Given the description of an element on the screen output the (x, y) to click on. 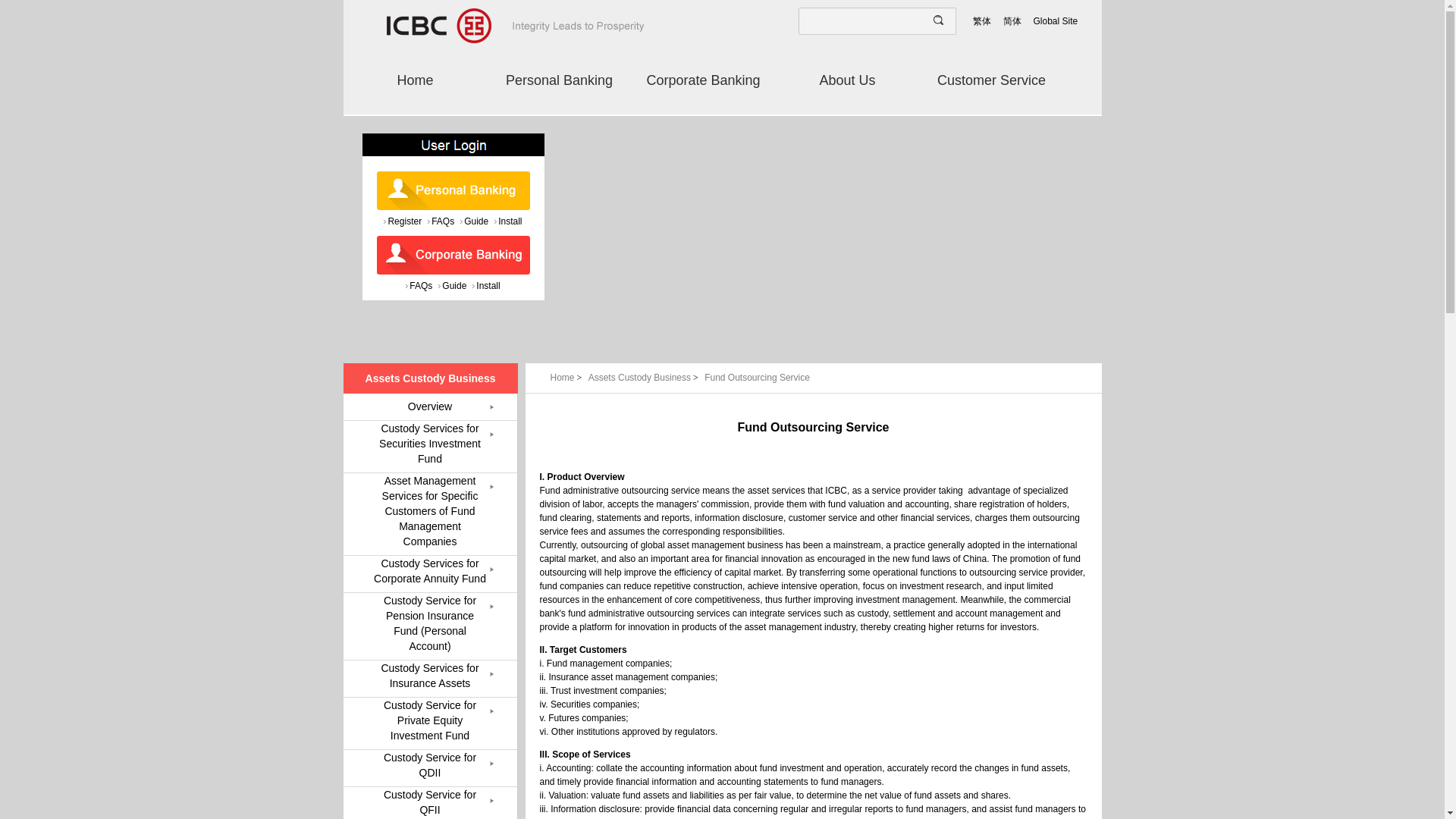
Install (485, 285)
Personal Banking (558, 80)
FAQs (419, 285)
Guide (473, 221)
Corporate Banking (702, 80)
FAQs (441, 221)
Guide (451, 285)
Home (414, 80)
Install (508, 221)
Customer Service (990, 80)
About Us (846, 80)
Global Site (1055, 20)
Register (403, 221)
